Given the description of an element on the screen output the (x, y) to click on. 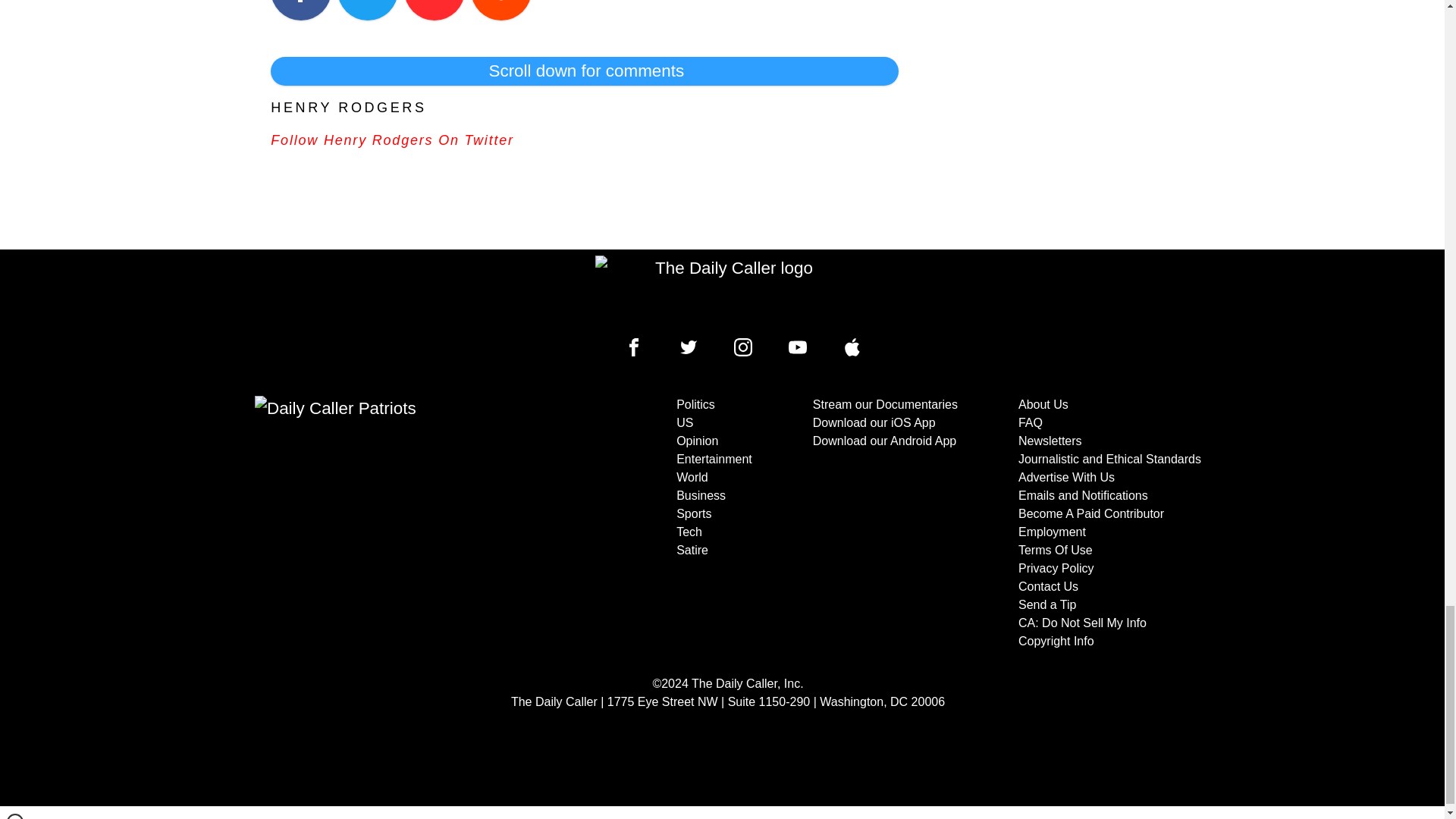
Scroll down for comments (584, 70)
To home page (727, 290)
Daily Caller YouTube (797, 347)
Daily Caller YouTube (852, 347)
Subscribe to The Daily Caller (405, 522)
Daily Caller Instagram (742, 347)
Daily Caller Twitter (688, 347)
Daily Caller Facebook (633, 347)
